Given the description of an element on the screen output the (x, y) to click on. 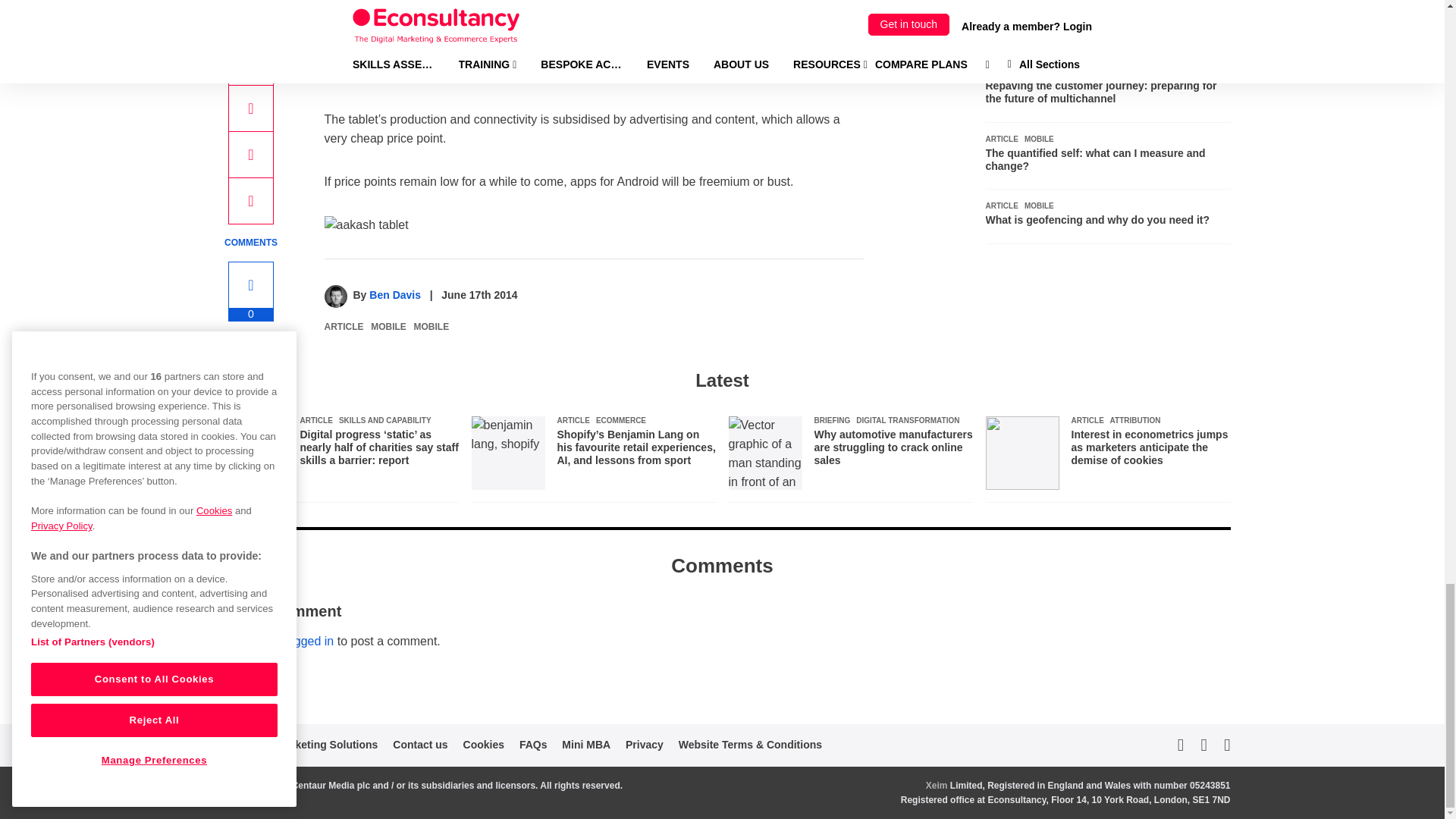
Posts by Ben Davis (394, 295)
